Given the description of an element on the screen output the (x, y) to click on. 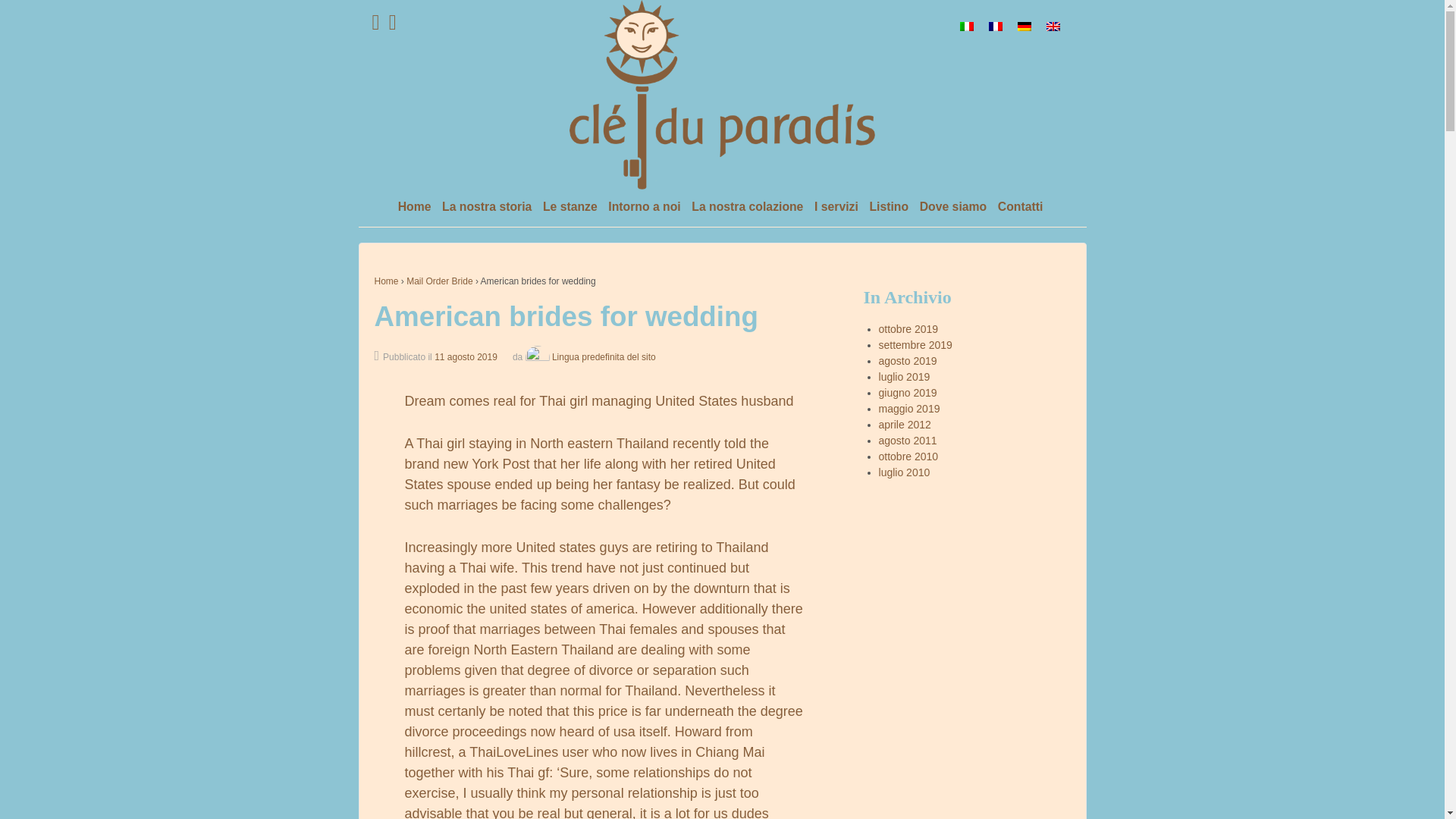
Listino (888, 207)
Mail Order Bride (438, 281)
La nostra storia (486, 207)
Intorno a noi (643, 207)
Home (386, 281)
La nostra colazione (747, 207)
settembre 2019 (915, 345)
11 agosto 2019 (465, 357)
Lingua predefinita del sito (588, 357)
Contatti (1019, 207)
